Given the description of an element on the screen output the (x, y) to click on. 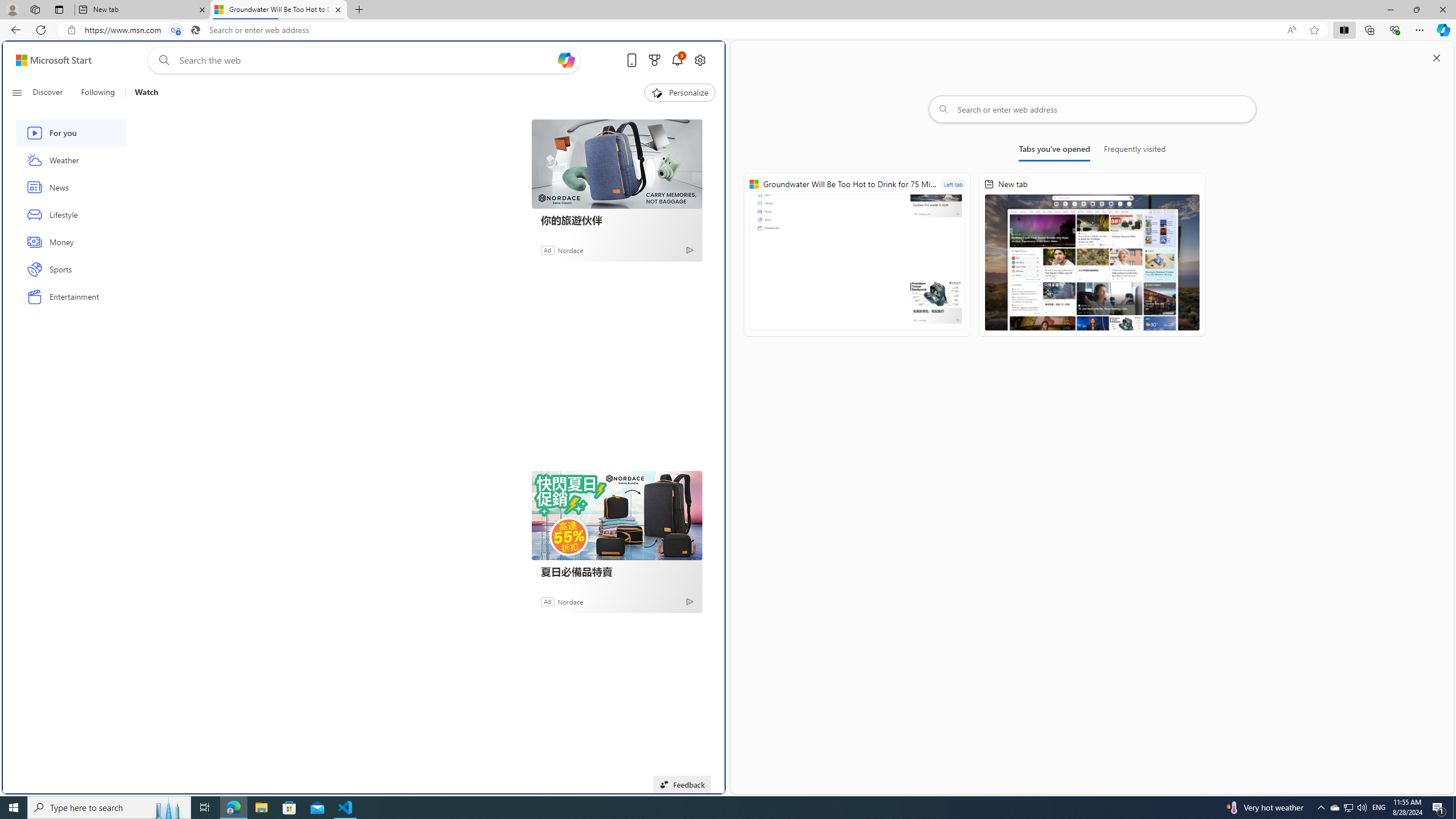
App bar (728, 29)
Microsoft Start (53, 60)
Microsoft rewards (654, 60)
Open navigation menu (16, 92)
Tabs in split screen (175, 29)
Close tab (338, 9)
Feedback (681, 784)
Personalize (679, 92)
Open Copilot (566, 59)
Open Copilot (565, 59)
Tab actions menu (58, 9)
